Given the description of an element on the screen output the (x, y) to click on. 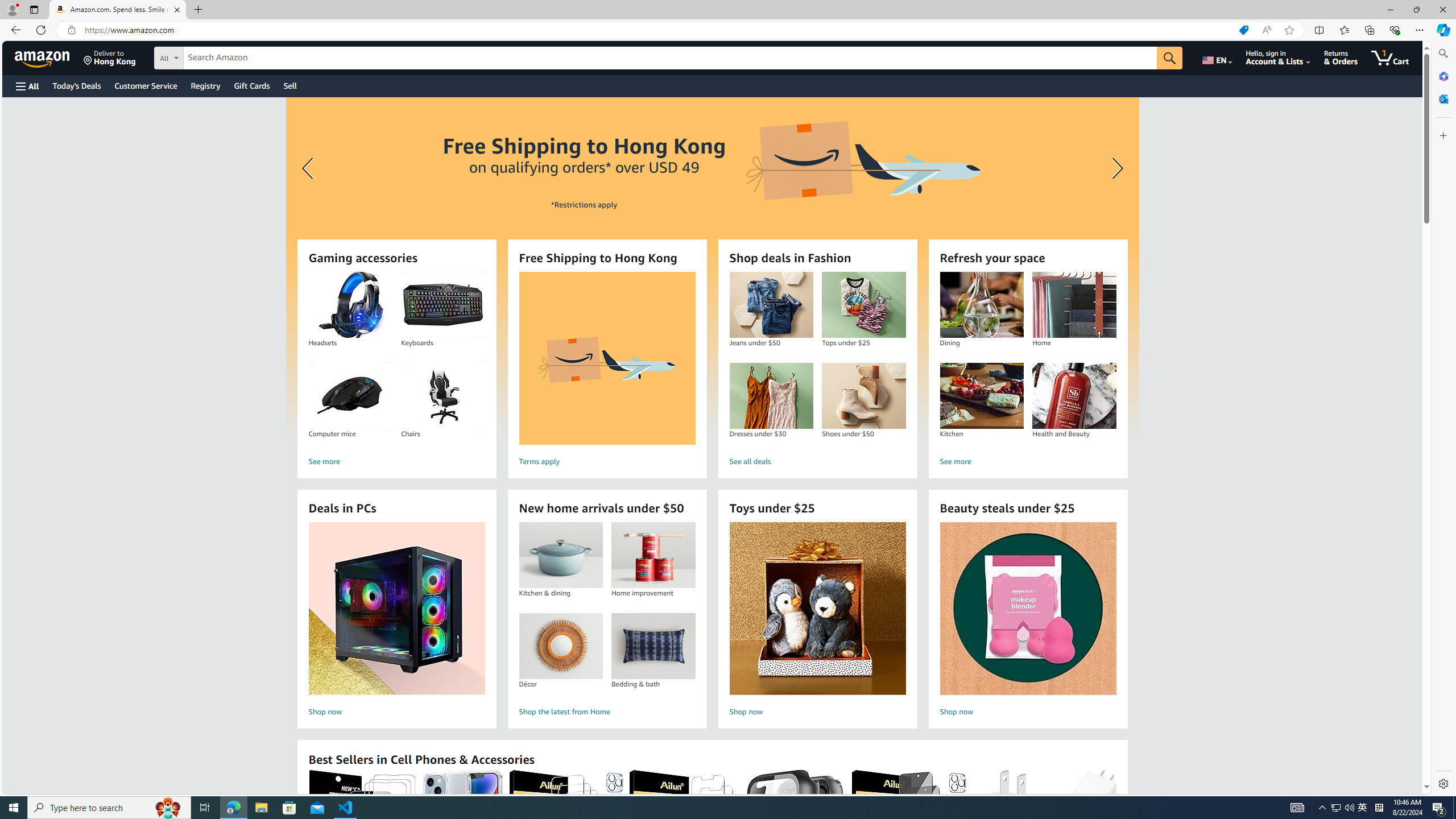
Beauty steals under $25 Shop now (1028, 620)
Tops under $25 (863, 304)
Shoes under $50 (863, 395)
Kitchen & dining (560, 555)
Jeans under $50 (770, 304)
Free Shipping to Hong Kong (606, 357)
Health and Beauty (1074, 395)
Open Menu (26, 86)
Beauty steals under $25 (1027, 608)
Bedding & bath (653, 645)
